Given the description of an element on the screen output the (x, y) to click on. 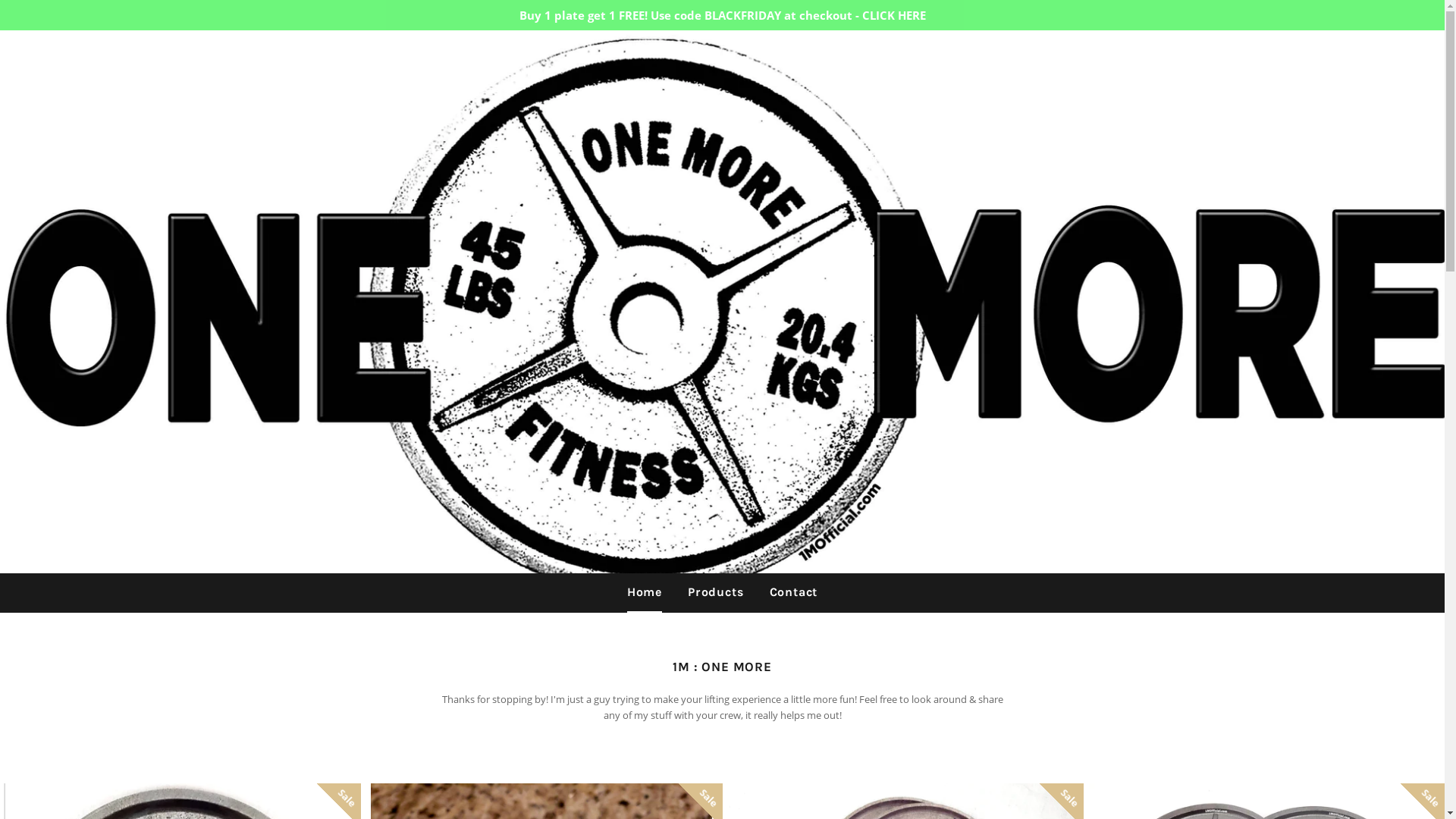
Products Element type: text (715, 592)
Cart Element type: text (1419, 54)
Menu Element type: text (24, 54)
Contact Element type: text (793, 592)
Search Element type: text (1386, 54)
Home Element type: text (644, 592)
